Given the description of an element on the screen output the (x, y) to click on. 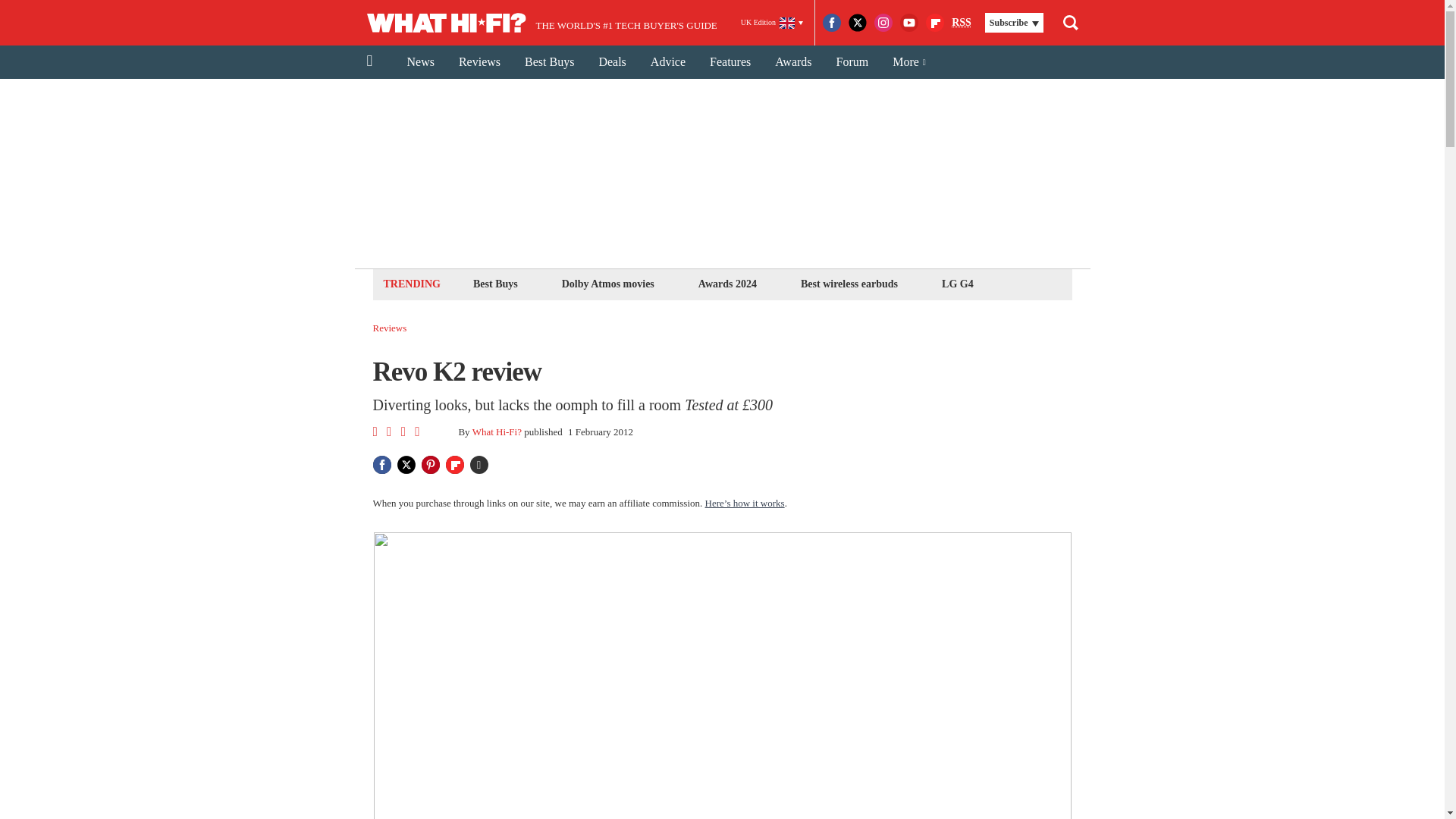
Best Buys (549, 61)
Advice (668, 61)
Features (729, 61)
Really Simple Syndication (961, 21)
Dolby Atmos movies (607, 283)
Best wireless earbuds (848, 283)
UK Edition (771, 22)
Best Buys (494, 283)
News (419, 61)
RSS (961, 22)
Awards 2024 (727, 283)
Reviews (479, 61)
Reviews (389, 327)
Deals (611, 61)
LG G4 (957, 283)
